Given the description of an element on the screen output the (x, y) to click on. 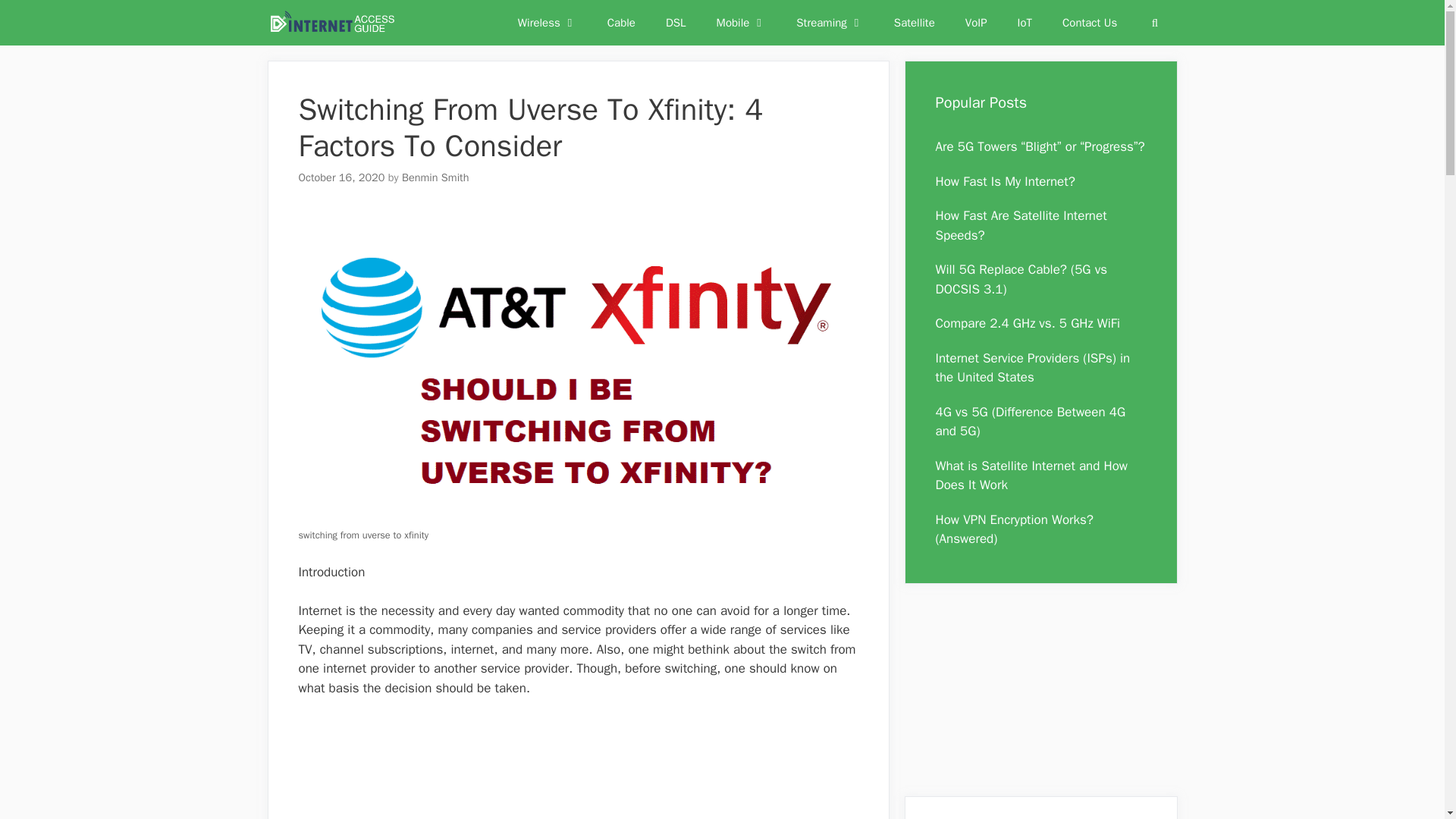
Search (1154, 22)
Search (1154, 22)
Satellite (914, 22)
Internet Access Guide (331, 22)
DSL (675, 22)
IoT (1024, 22)
Contact Us (1089, 22)
4:47 am (341, 177)
October 16, 2020 (341, 177)
Benmin Smith (434, 177)
Wireless (547, 22)
View all posts by Benmin Smith (434, 177)
Cable (621, 22)
Streaming (829, 22)
Mobile (741, 22)
